Given the description of an element on the screen output the (x, y) to click on. 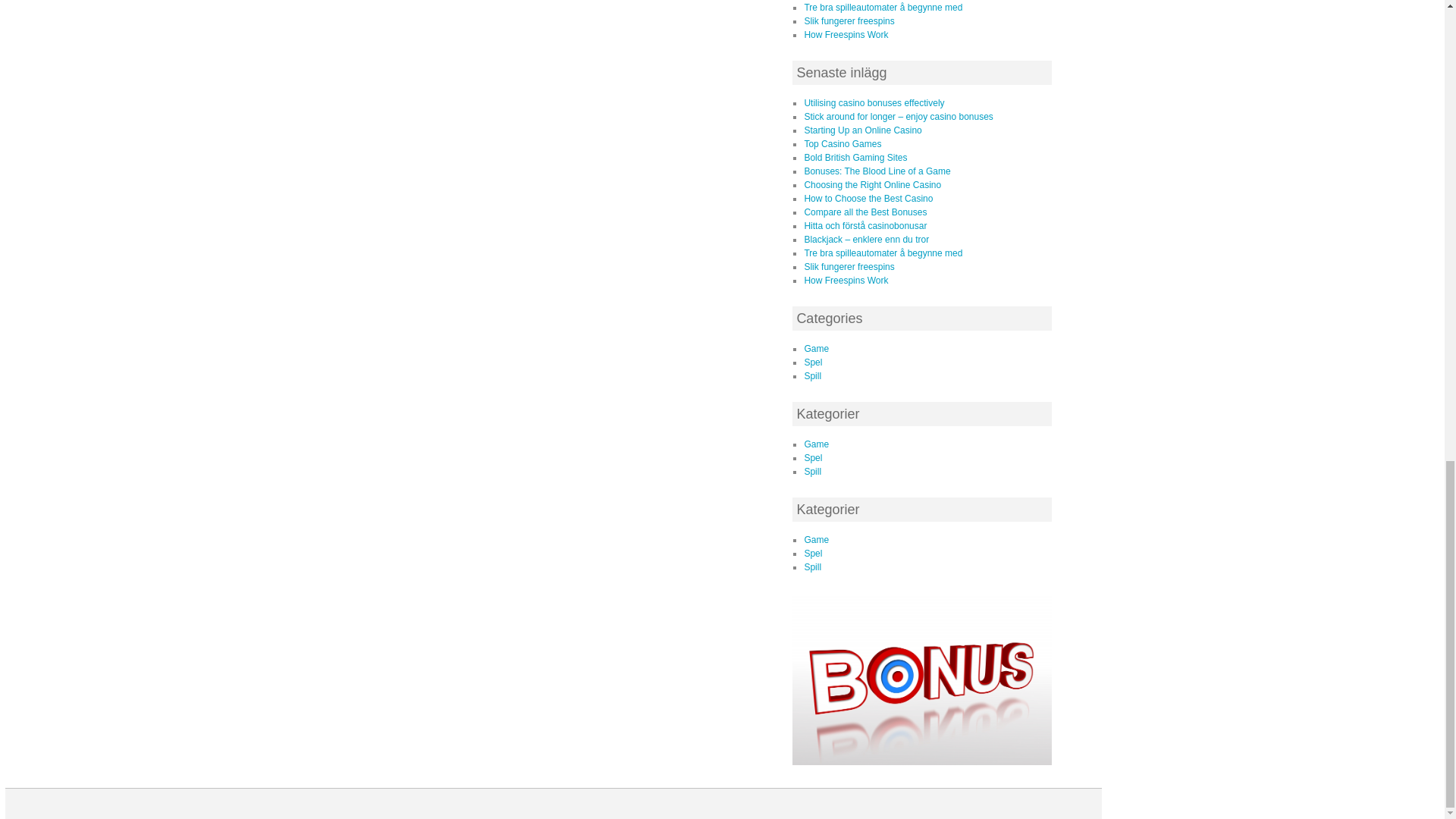
Slik fungerer freespins (848, 20)
Starting Up an Online Casino (862, 130)
How Freespins Work (845, 34)
Top Casino Games (841, 143)
Utilising casino bonuses effectively (873, 102)
Bold British Gaming Sites (855, 157)
